Given the description of an element on the screen output the (x, y) to click on. 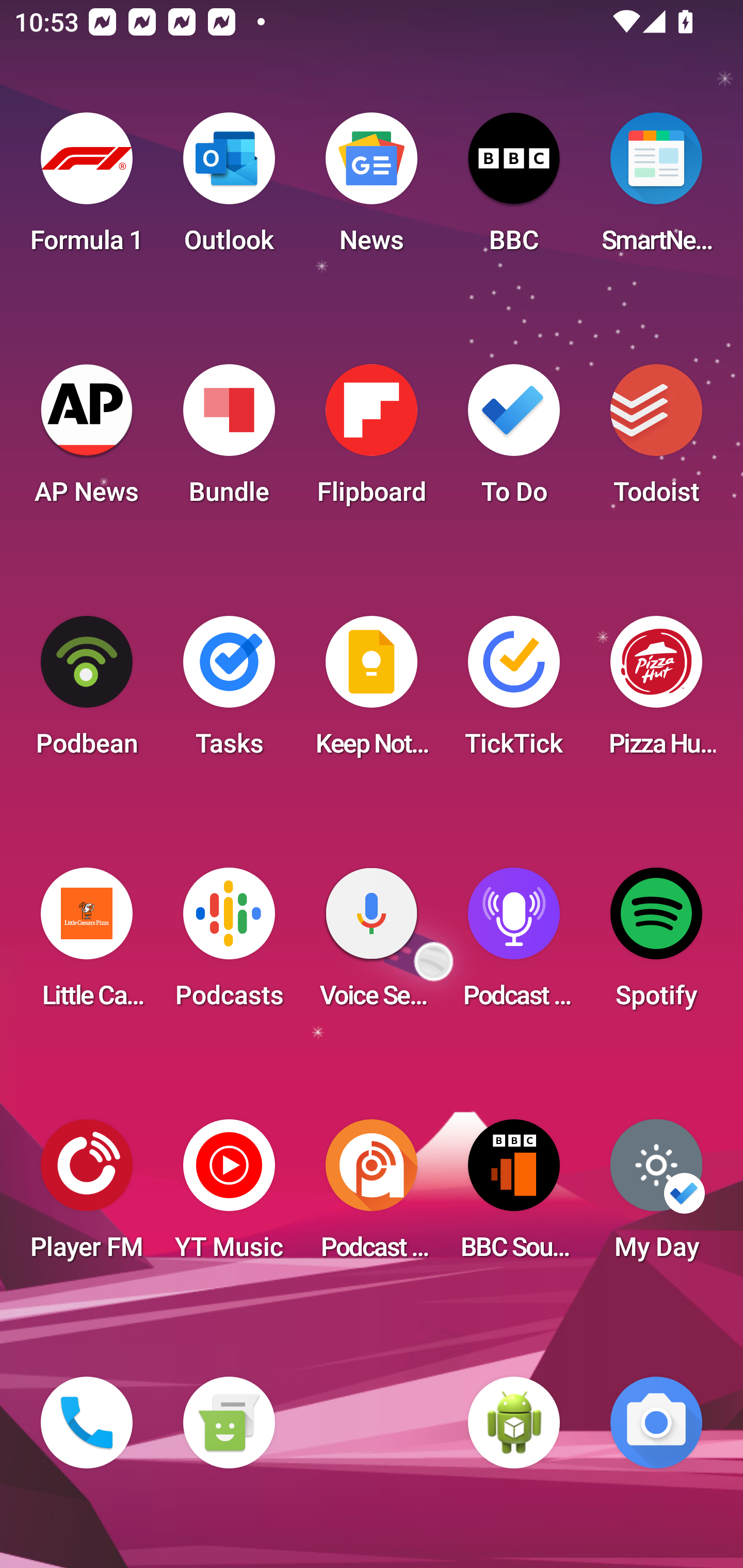
Formula 1 (86, 188)
Outlook (228, 188)
News (371, 188)
BBC (513, 188)
SmartNews (656, 188)
AP News (86, 440)
Bundle (228, 440)
Flipboard (371, 440)
To Do (513, 440)
Todoist (656, 440)
Podbean (86, 692)
Tasks (228, 692)
Keep Notes (371, 692)
TickTick (513, 692)
Pizza Hut HK & Macau (656, 692)
Little Caesars Pizza (86, 943)
Podcasts (228, 943)
Voice Search (371, 943)
Podcast Player (513, 943)
Spotify (656, 943)
Player FM (86, 1195)
YT Music (228, 1195)
Podcast Addict (371, 1195)
BBC Sounds (513, 1195)
My Day (656, 1195)
Phone (86, 1422)
Messaging (228, 1422)
WebView Browser Tester (513, 1422)
Camera (656, 1422)
